Given the description of an element on the screen output the (x, y) to click on. 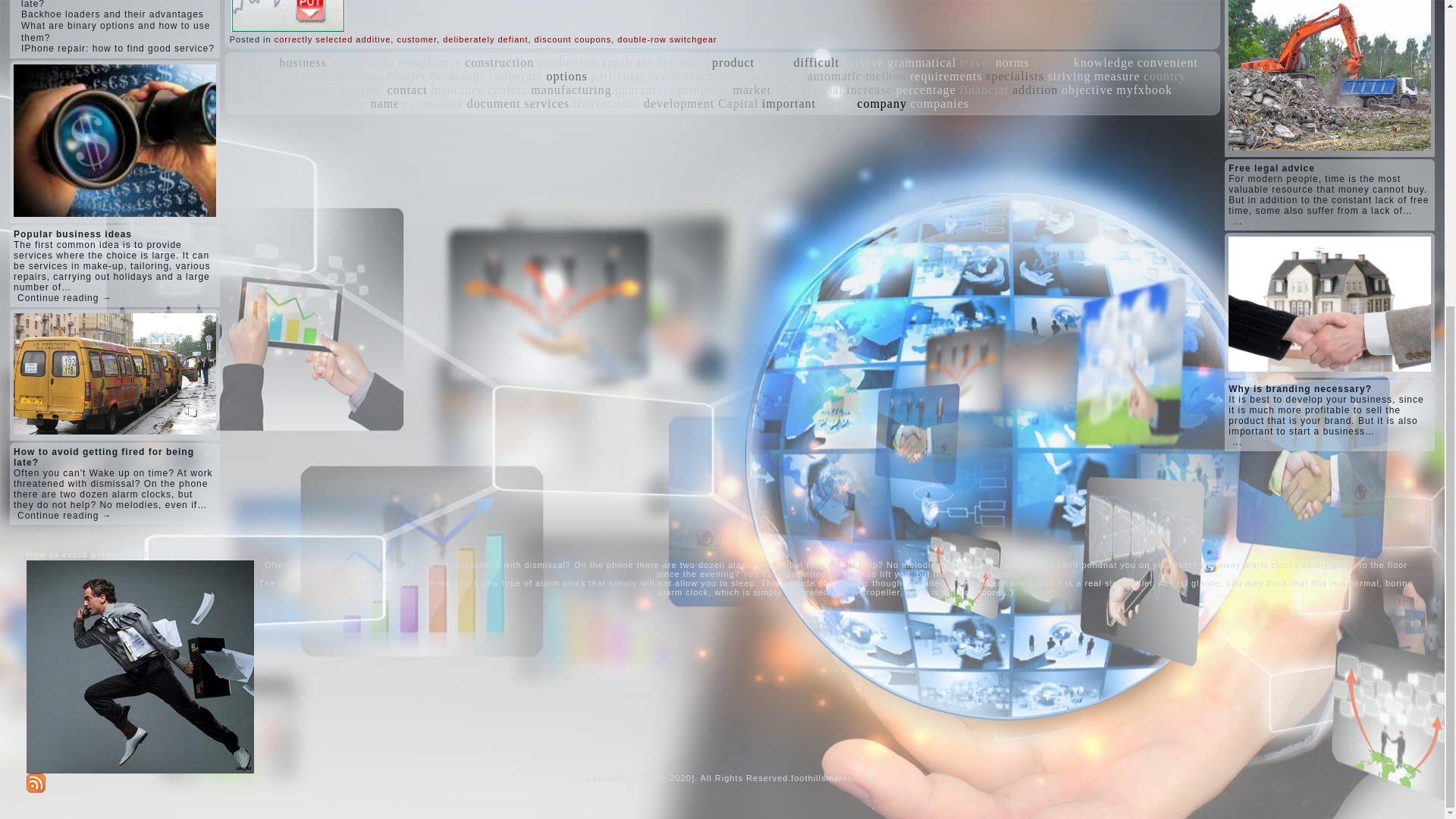
business (302, 62)
Backhoe loaders and their advantages (112, 14)
correctly selected additive (333, 39)
What are binary options and how to use them? (115, 31)
deliberately defiant (484, 39)
IPhone repair: how to find good service? (117, 48)
sketches (252, 62)
How to avoid getting fired for being late? (105, 4)
discount coupons (572, 39)
double-row switchgear (666, 39)
customer (416, 39)
